Given the description of an element on the screen output the (x, y) to click on. 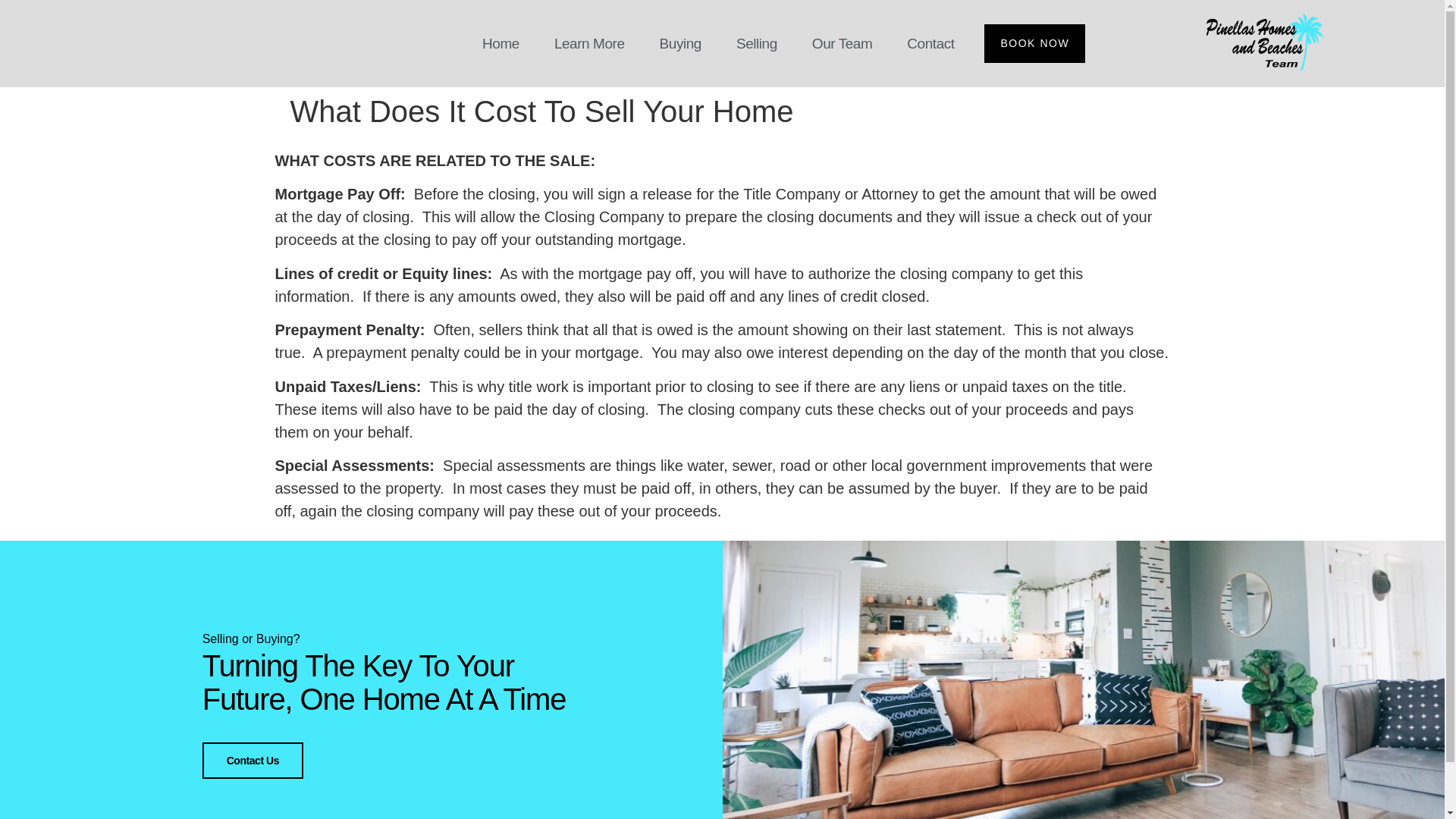
Selling (755, 43)
Contact (930, 43)
Our Team (842, 43)
Home (500, 43)
Buying (680, 43)
Learn More (589, 43)
